Given the description of an element on the screen output the (x, y) to click on. 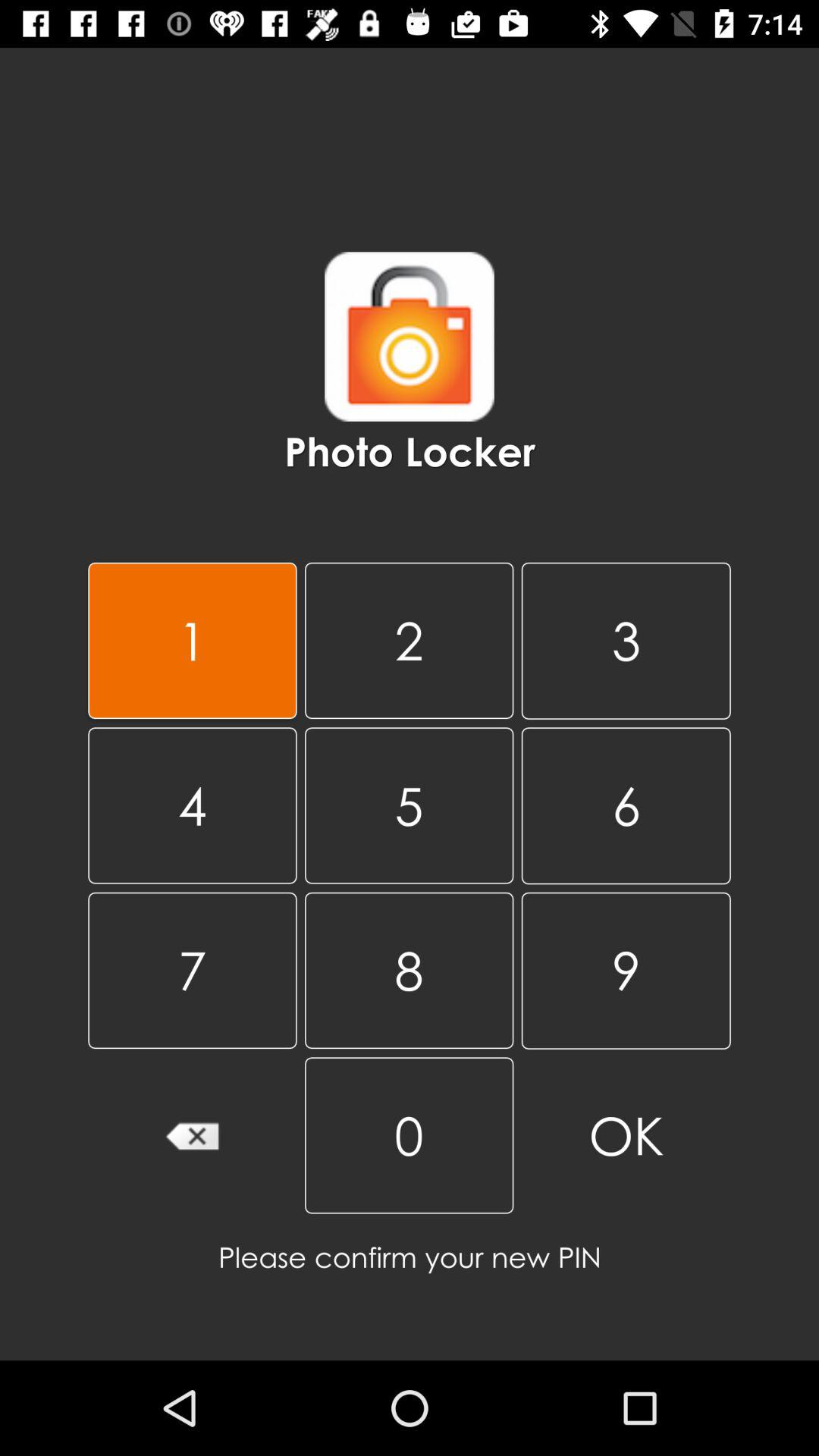
turn off the 2 (408, 640)
